Given the description of an element on the screen output the (x, y) to click on. 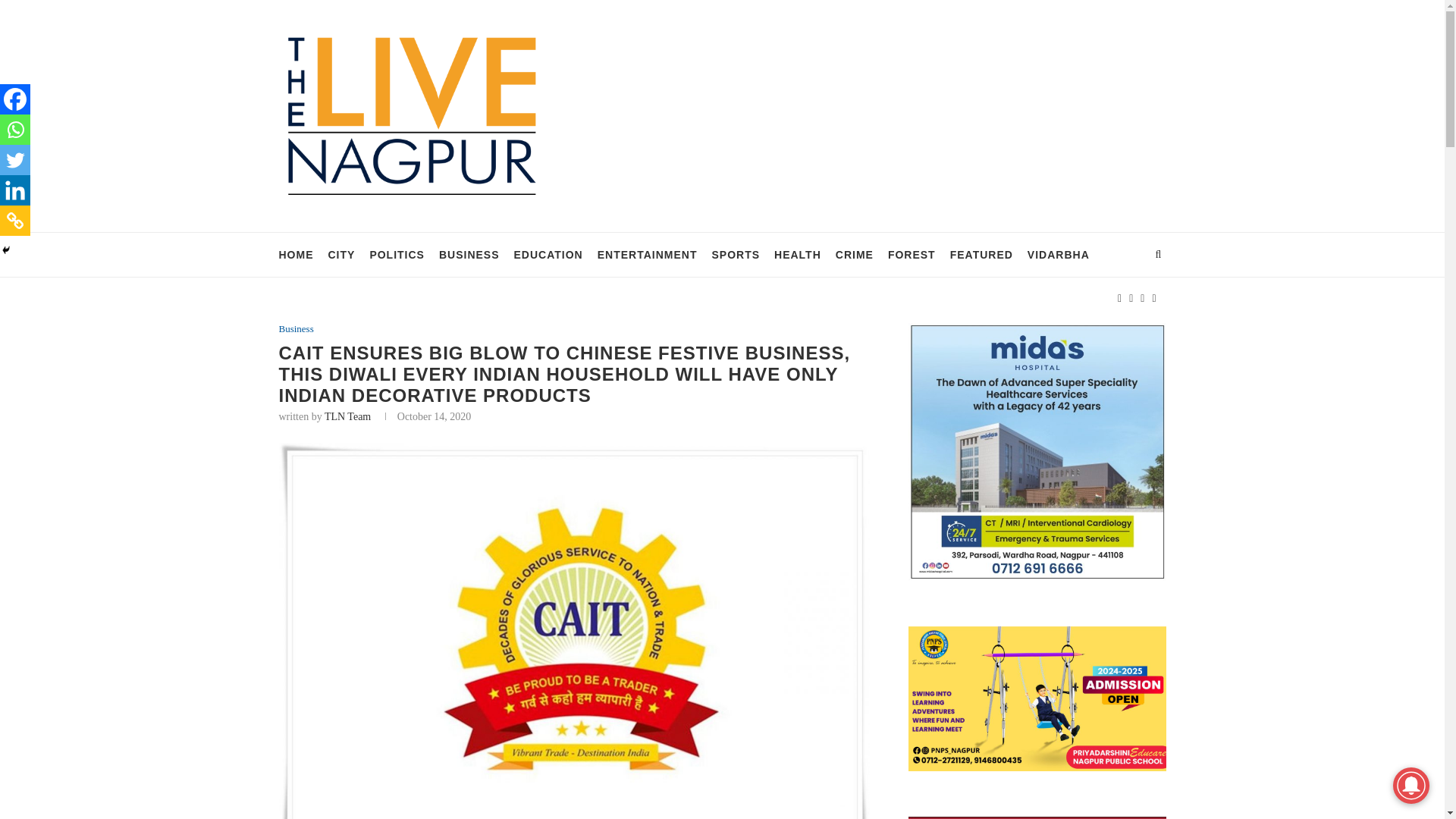
Facebook (15, 99)
SPORTS (735, 254)
ENTERTAINMENT (646, 254)
Business (296, 328)
Linkedin (15, 190)
EDUCATION (548, 254)
Hide (5, 250)
Copy Link (15, 220)
FOREST (912, 254)
Whatsapp (15, 129)
HOME (296, 254)
BUSINESS (469, 254)
POLITICS (397, 254)
HEALTH (797, 254)
Twitter (15, 159)
